Given the description of an element on the screen output the (x, y) to click on. 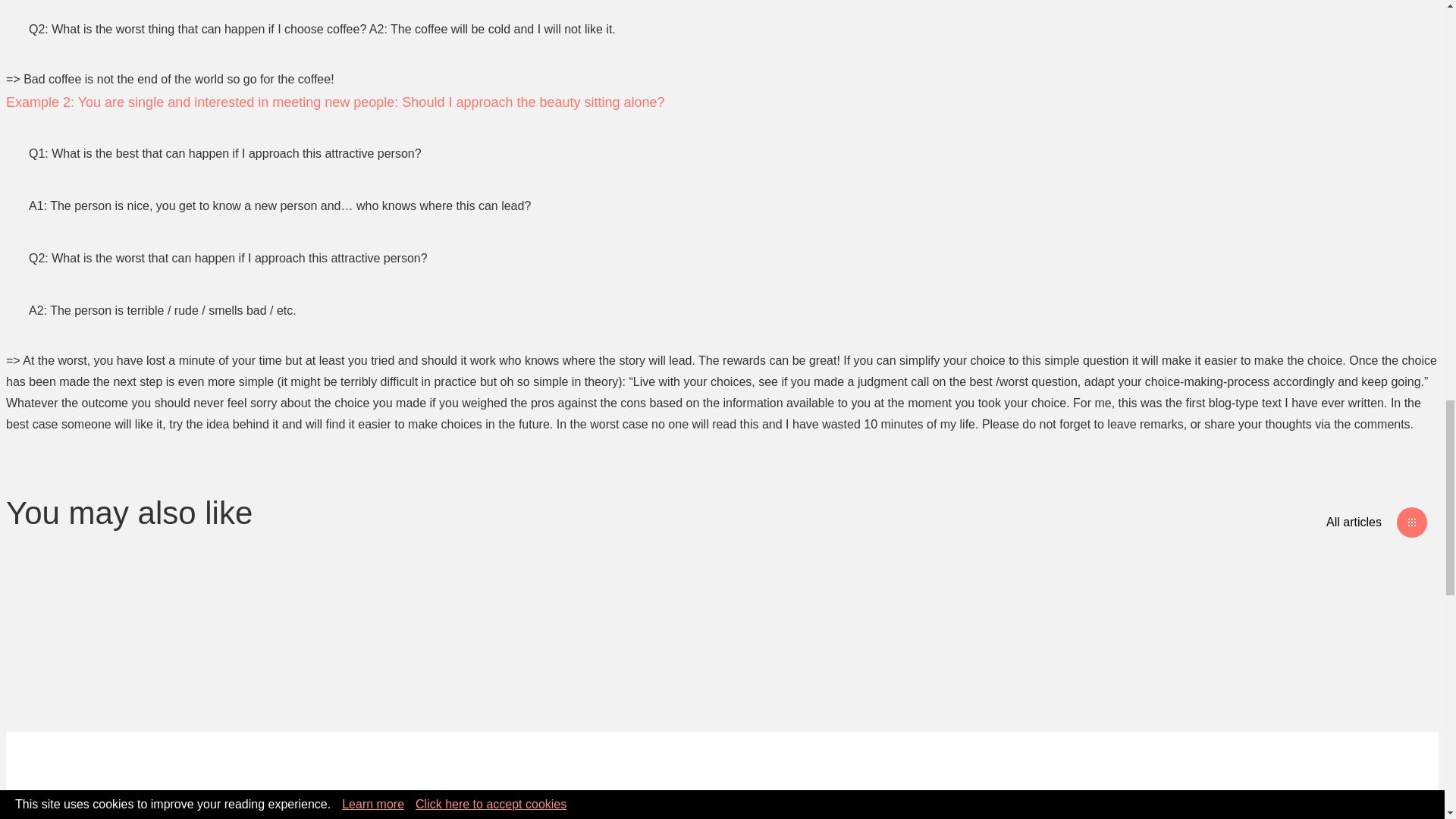
All articles (1376, 521)
